Given the description of an element on the screen output the (x, y) to click on. 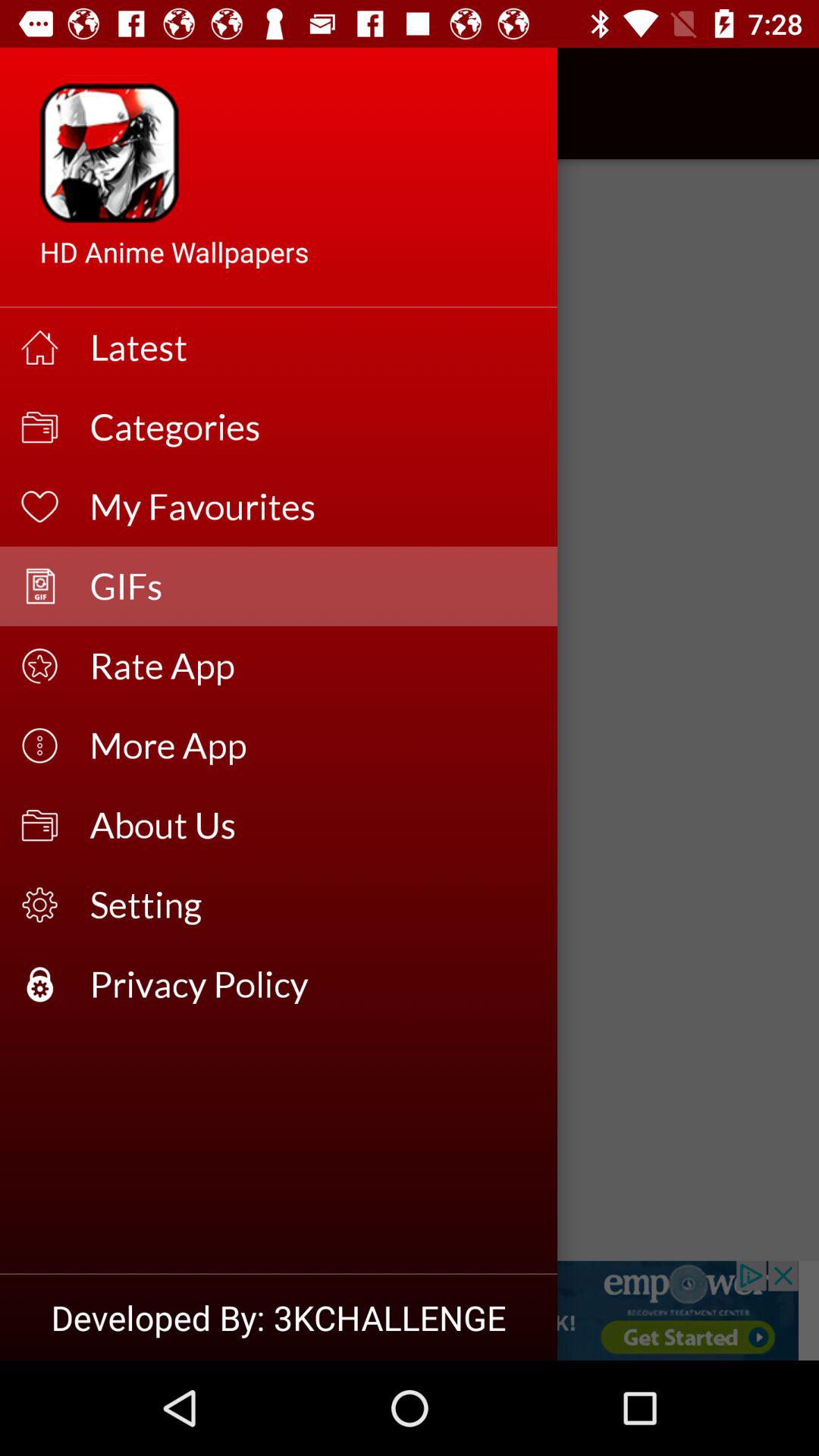
swipe to the rate app item (313, 665)
